Given the description of an element on the screen output the (x, y) to click on. 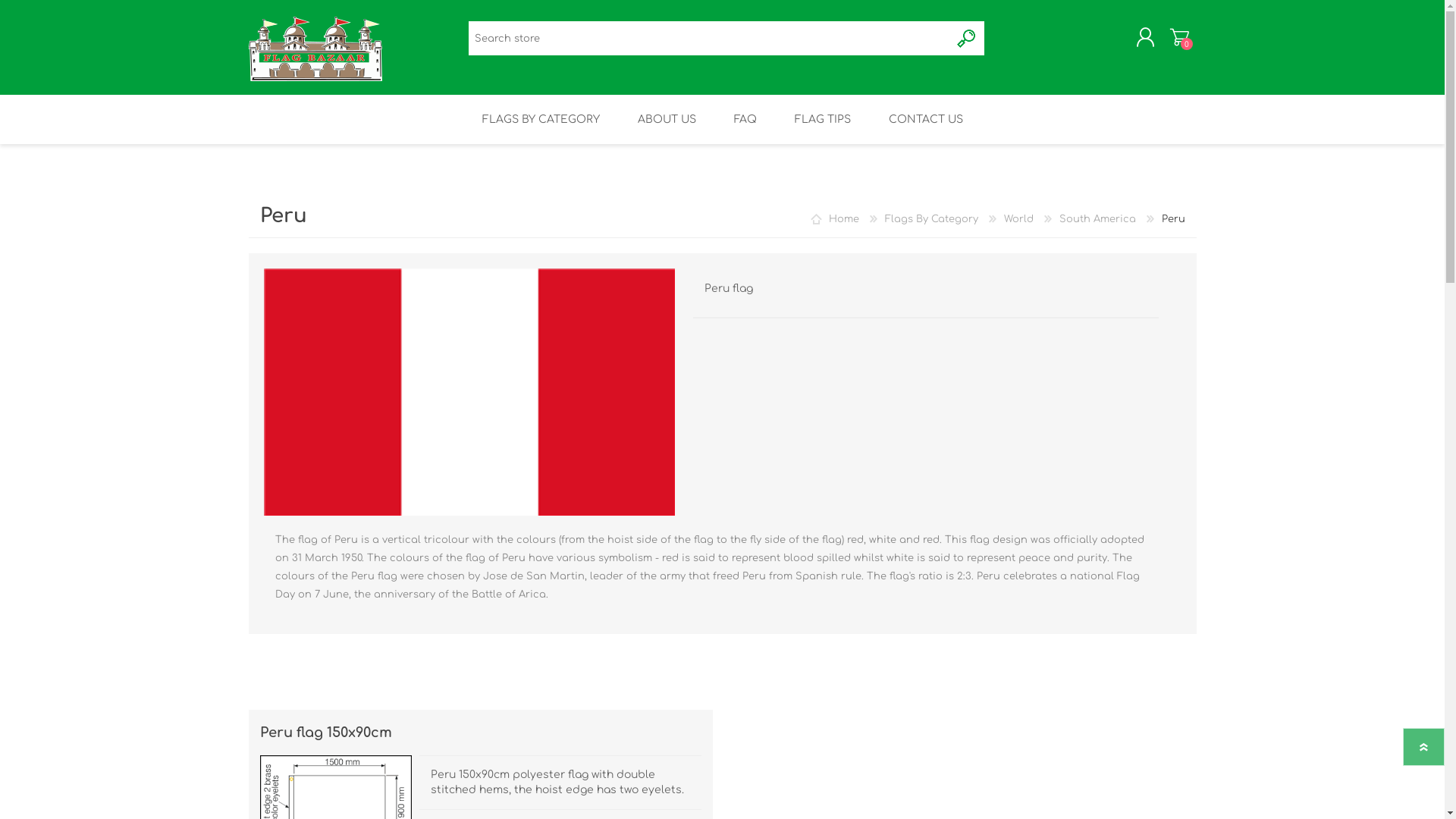
ABOUT US Element type: text (666, 119)
FAQ Element type: text (744, 119)
South America Element type: text (1098, 218)
FLAGS BY CATEGORY Element type: text (540, 119)
Search Element type: text (967, 38)
FLAG TIPS Element type: text (822, 119)
Shopping cart Element type: text (1178, 36)
CONTACT US Element type: text (925, 119)
Flags By Category Element type: text (932, 218)
World Element type: text (1020, 218)
Peru Element type: hover (469, 391)
Home Element type: text (844, 218)
